Given the description of an element on the screen output the (x, y) to click on. 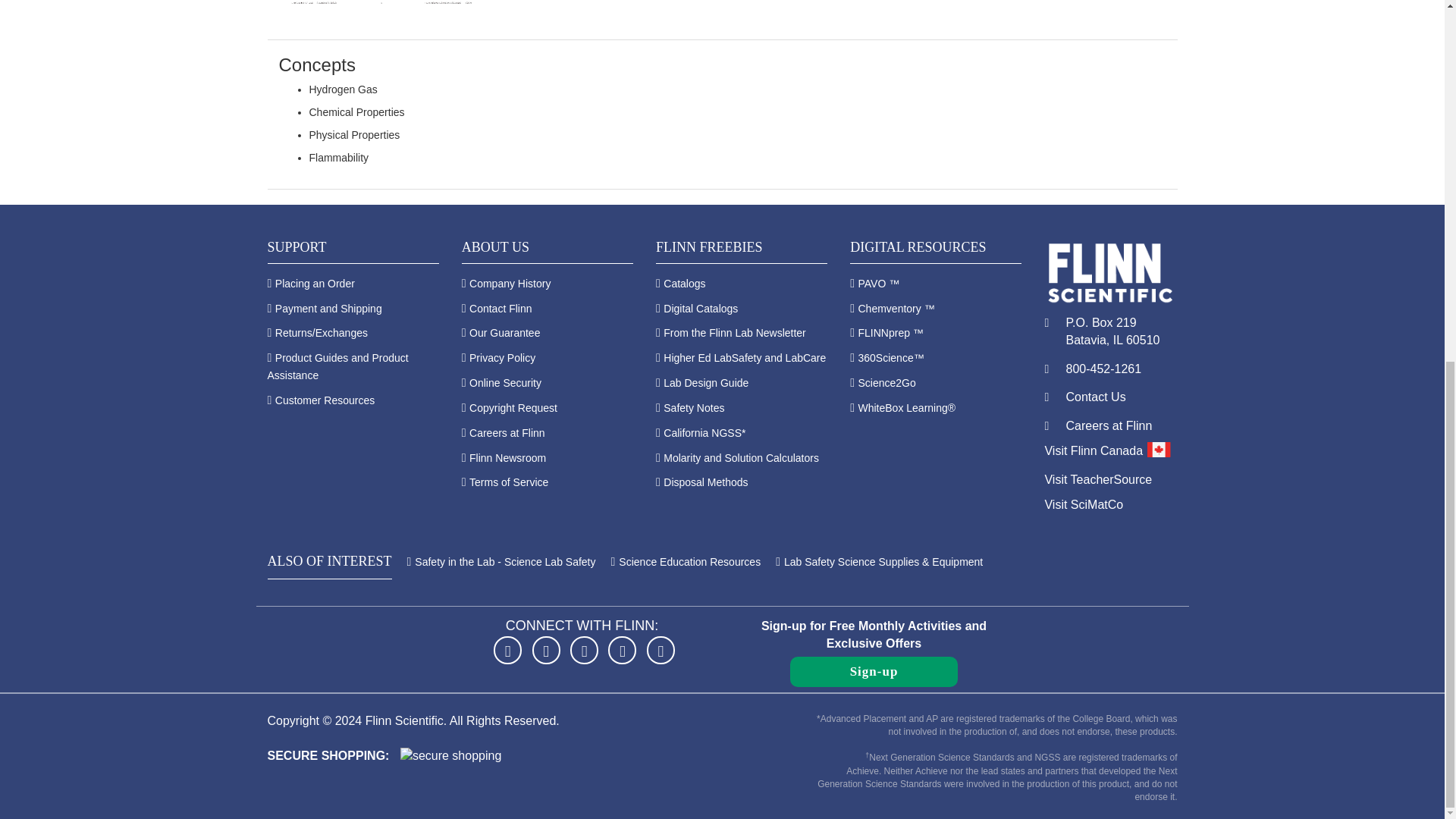
Higher Ed LabSafety and LabCare (744, 357)
Flinn Newsroom (507, 458)
Terms of Service (508, 481)
Product Guides and Product Assistance (336, 366)
Disposal Methods (705, 481)
